Given the description of an element on the screen output the (x, y) to click on. 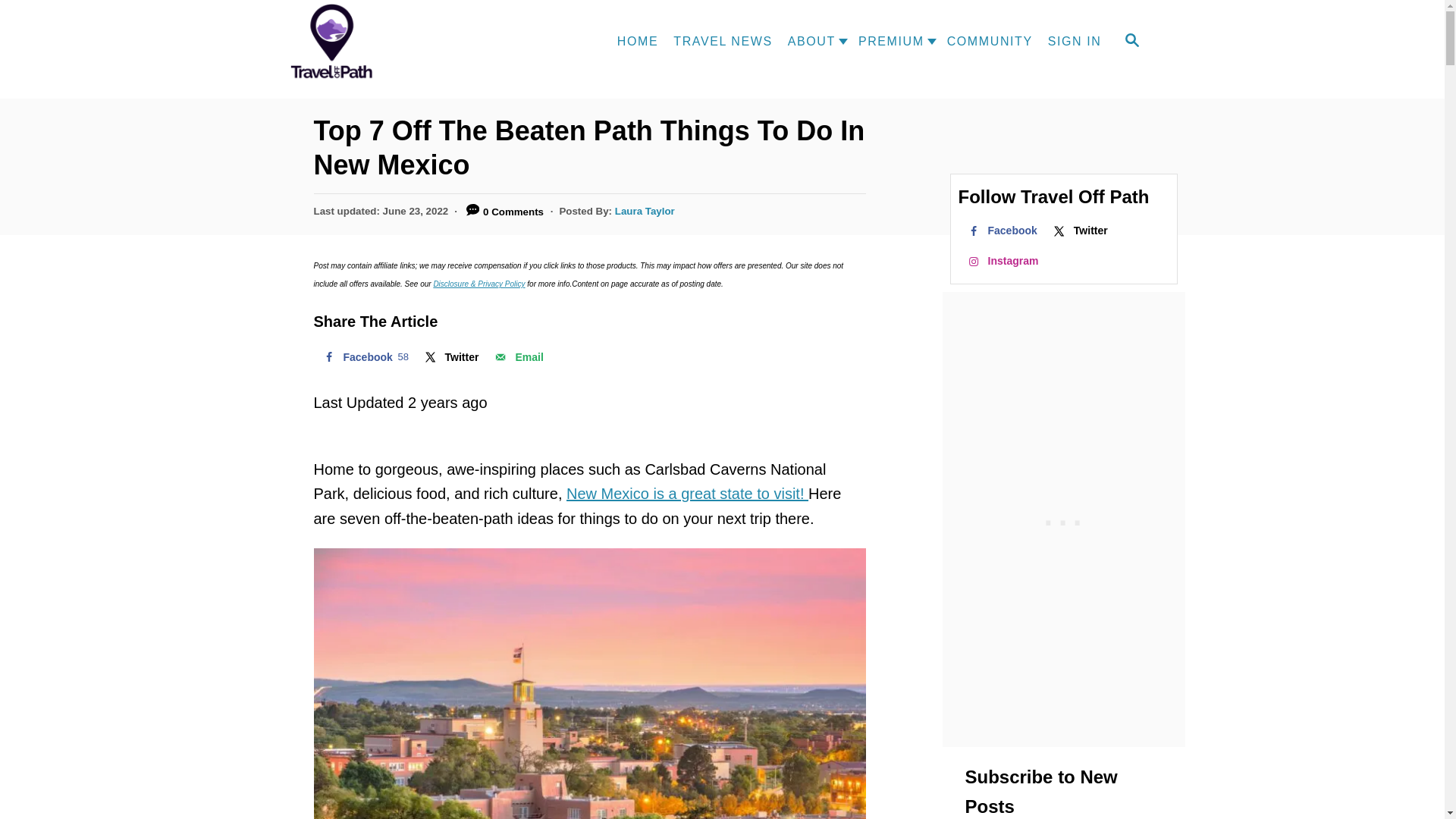
ABOUT (807, 41)
New Mexico is a great state to visit! (687, 493)
Email (517, 357)
Follow on Instagram (1001, 260)
SEARCH (1131, 40)
Twitter (450, 357)
COMMUNITY (990, 41)
Follow on X (1079, 230)
Follow on Facebook (1000, 230)
Share on Facebook (364, 357)
Laura Taylor (364, 357)
Send over email (644, 211)
PREMIUM (517, 357)
Share on X (887, 41)
